Given the description of an element on the screen output the (x, y) to click on. 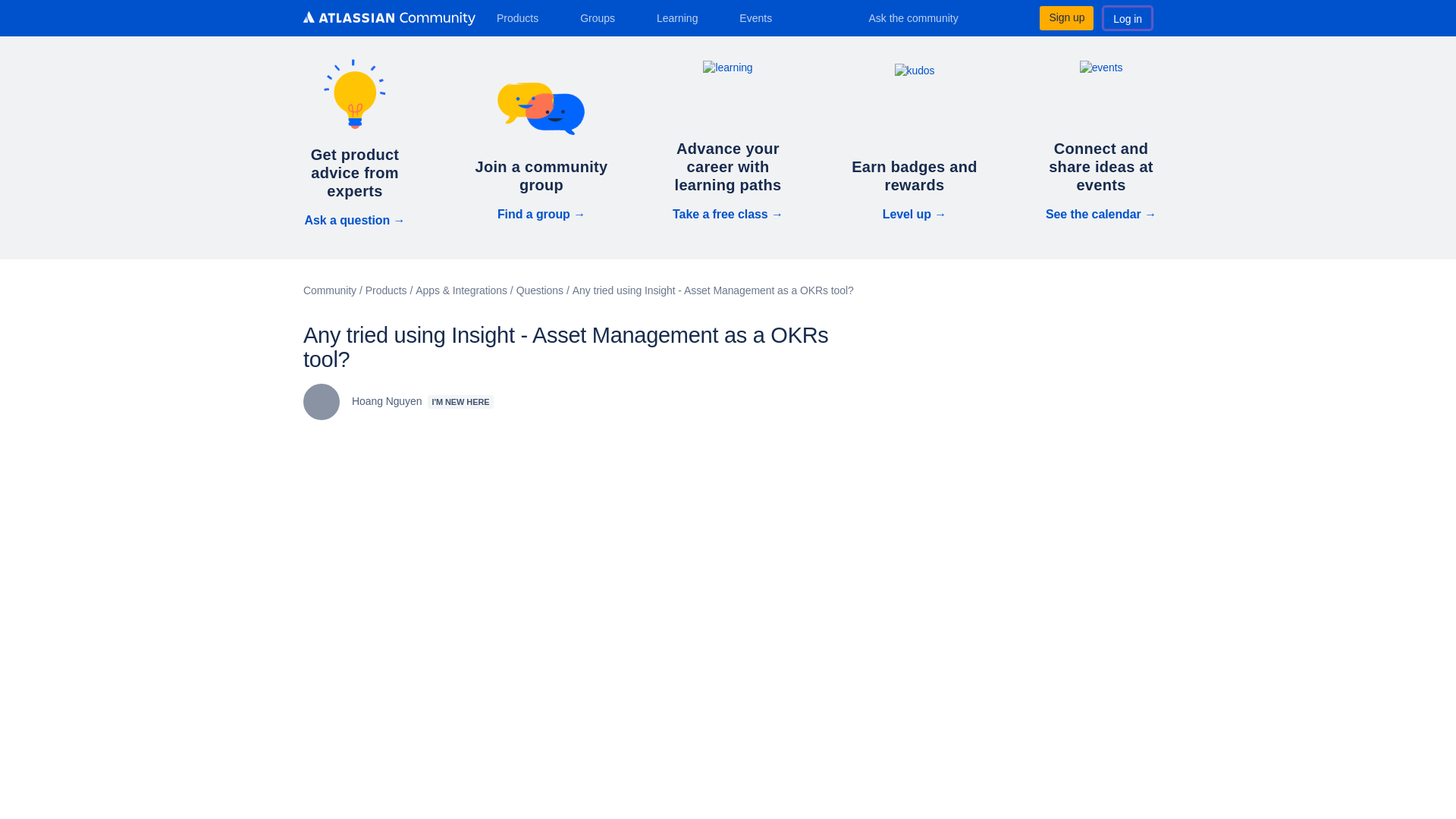
Groups (602, 17)
Log in (1127, 17)
Hoang Nguyen (320, 402)
Products (523, 17)
Learning (682, 17)
Atlassian Community logo (389, 19)
Ask the community  (923, 17)
Events (761, 17)
Atlassian Community logo (389, 18)
Sign up (1066, 17)
